Given the description of an element on the screen output the (x, y) to click on. 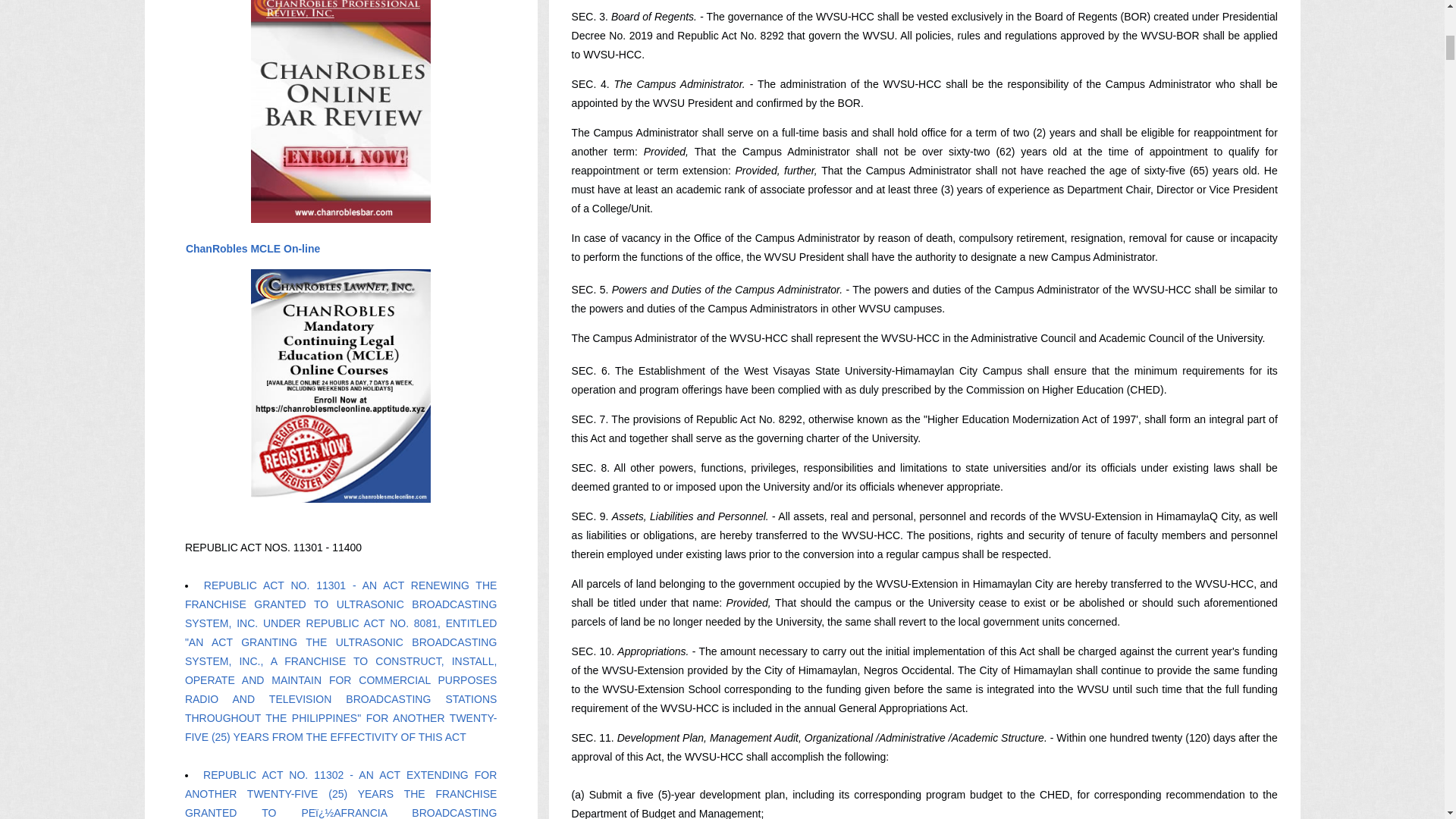
ChanRobles MCLE On-line (252, 248)
